Given the description of an element on the screen output the (x, y) to click on. 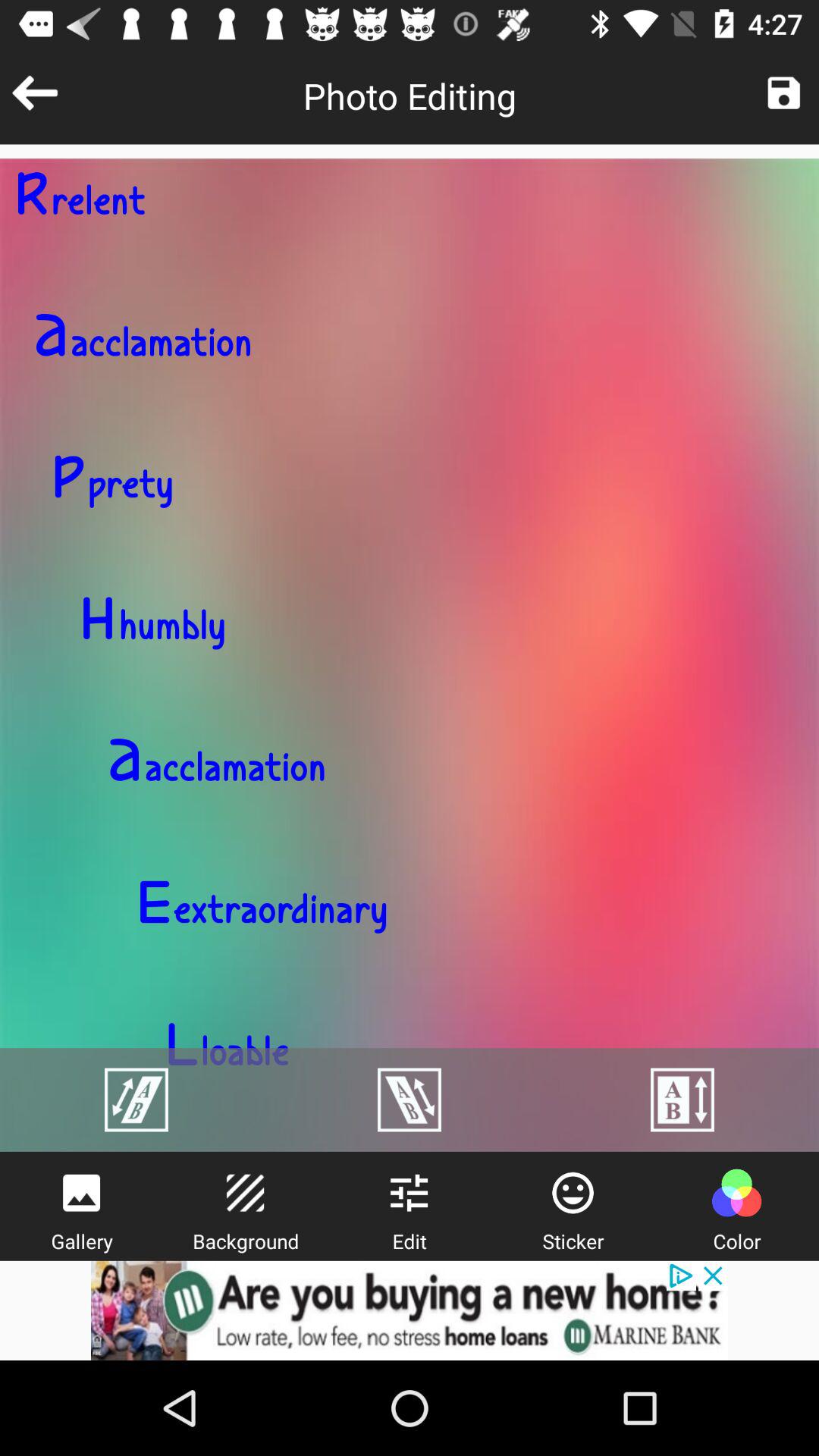
edit photo (409, 1192)
